Given the description of an element on the screen output the (x, y) to click on. 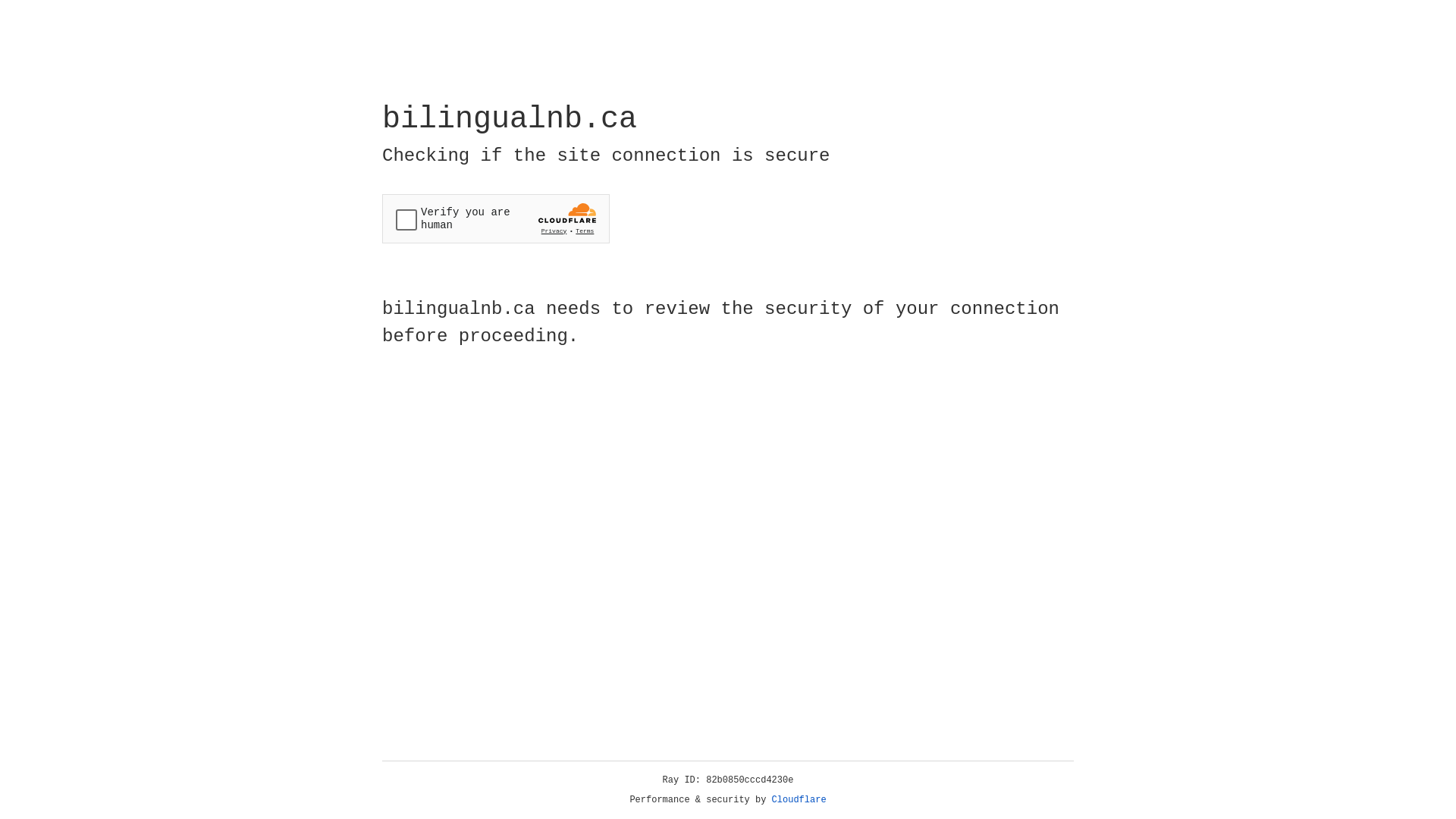
Cloudflare Element type: text (798, 799)
Widget containing a Cloudflare security challenge Element type: hover (495, 218)
